Given the description of an element on the screen output the (x, y) to click on. 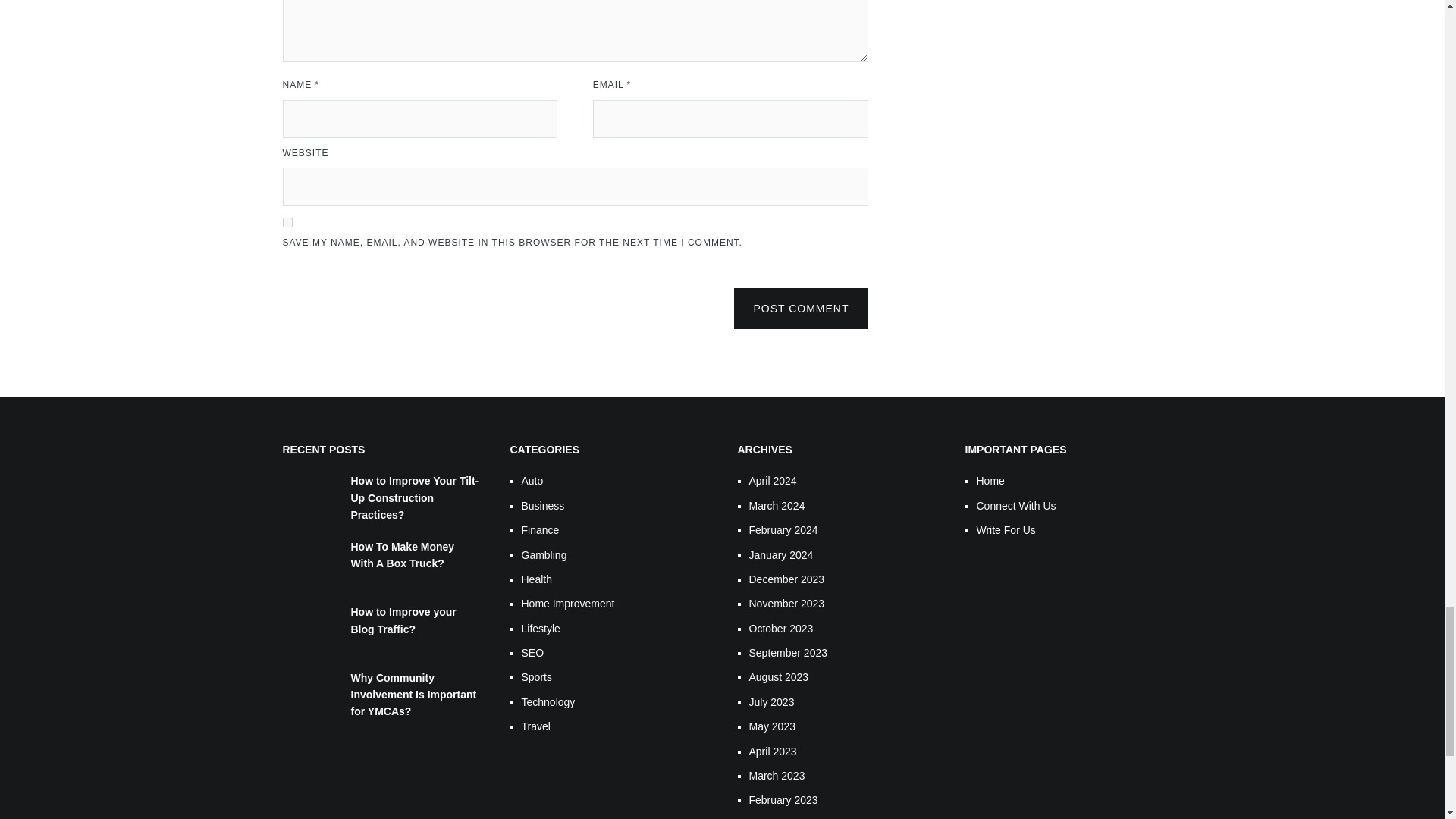
yes (287, 222)
POST COMMENT (800, 308)
